Given the description of an element on the screen output the (x, y) to click on. 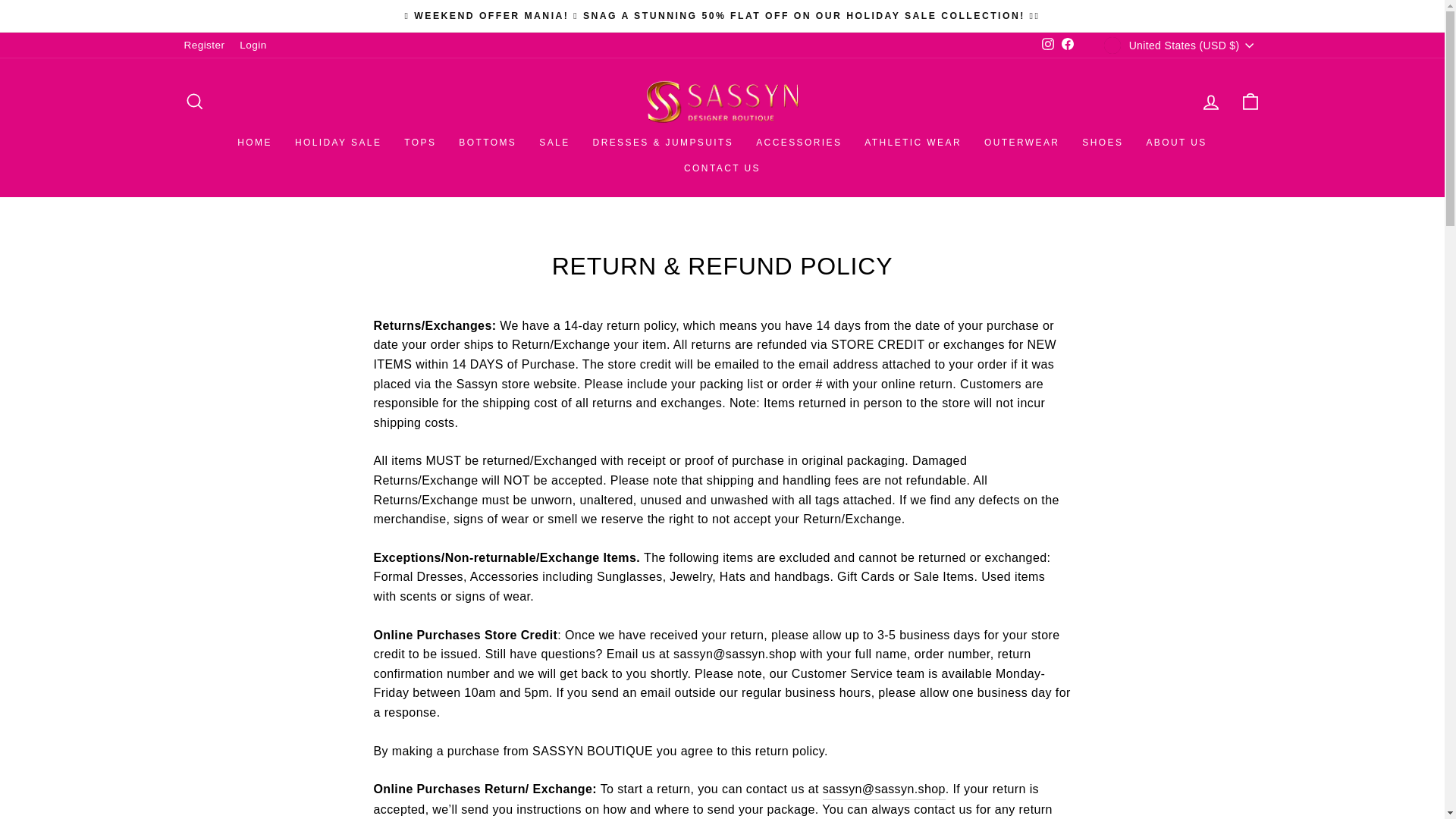
instagram (1048, 43)
HOME (254, 143)
SALE (553, 143)
ACCESSORIES (798, 143)
TOPS (419, 143)
BOTTOMS (486, 143)
ACCOUNT (1210, 102)
